Given the description of an element on the screen output the (x, y) to click on. 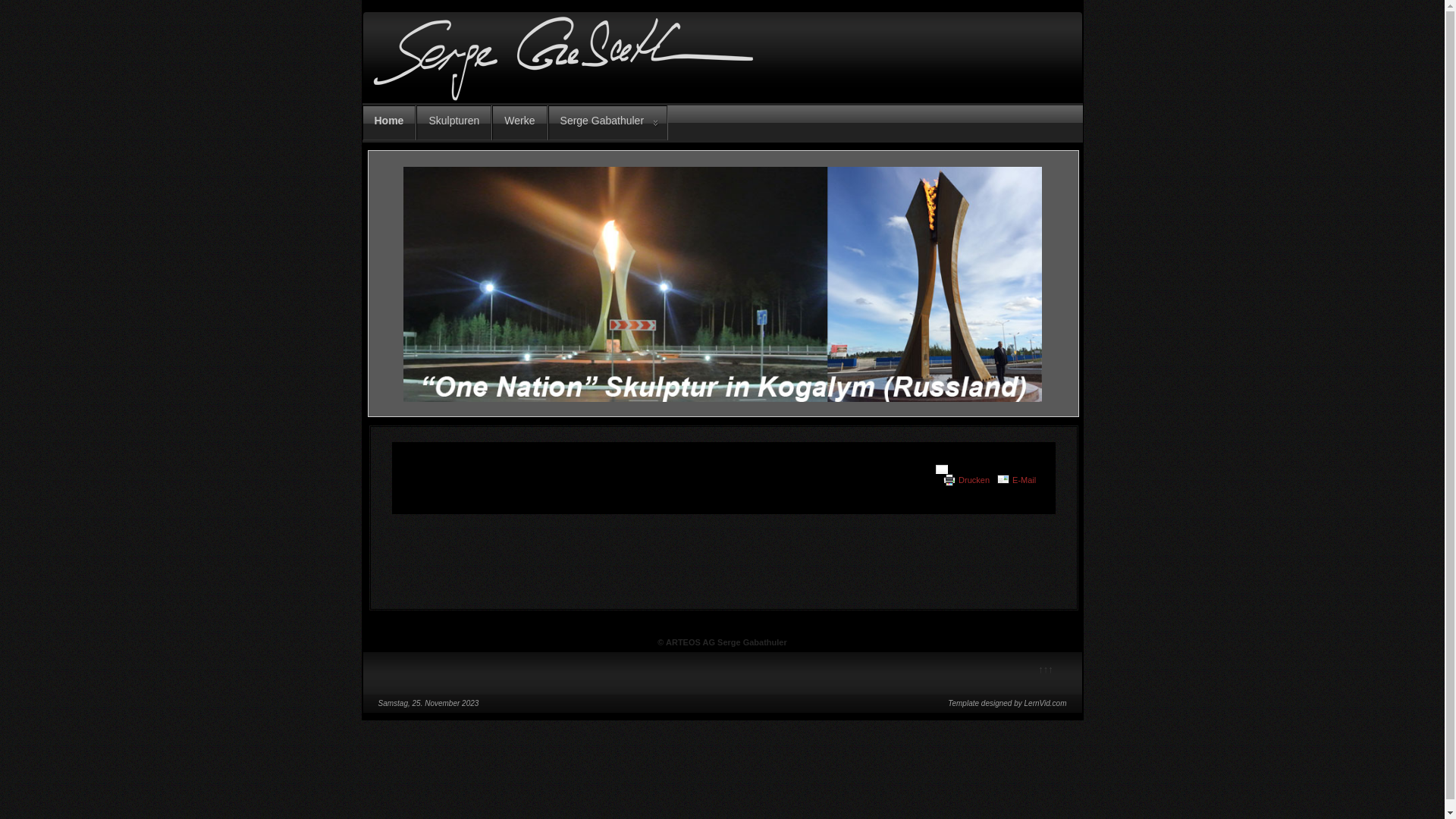
E-Mail Element type: text (1023, 479)
Serge Gabathuler Element type: text (608, 122)
Werke Element type: text (519, 122)
Home Element type: text (389, 122)
Drucken Element type: text (973, 479)
Skulpturen Element type: text (453, 122)
Template designed by LernVid.com Element type: text (1006, 703)
